Given the description of an element on the screen output the (x, y) to click on. 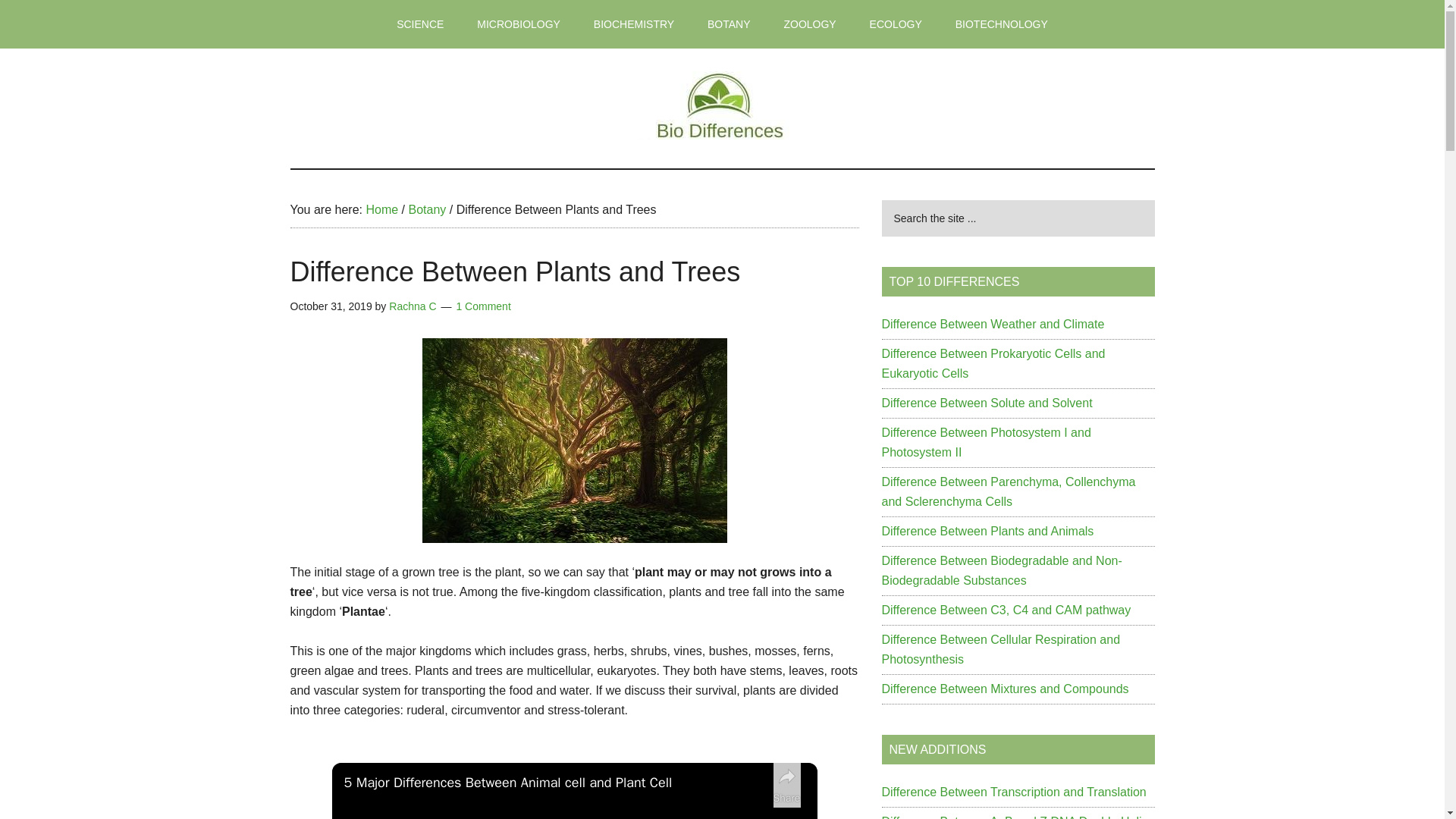
Home (381, 209)
5 Major Differences Between Animal cell and Plant Cell (554, 782)
Difference Between Weather and Climate (991, 323)
MICROBIOLOGY (518, 24)
BIOTECHNOLOGY (1001, 24)
BIOCHEMISTRY (633, 24)
ECOLOGY (895, 24)
Rachna C (411, 306)
Difference Between Prokaryotic Cells and Eukaryotic Cells (992, 363)
1 Comment (483, 306)
BOTANY (729, 24)
Botany (426, 209)
